Given the description of an element on the screen output the (x, y) to click on. 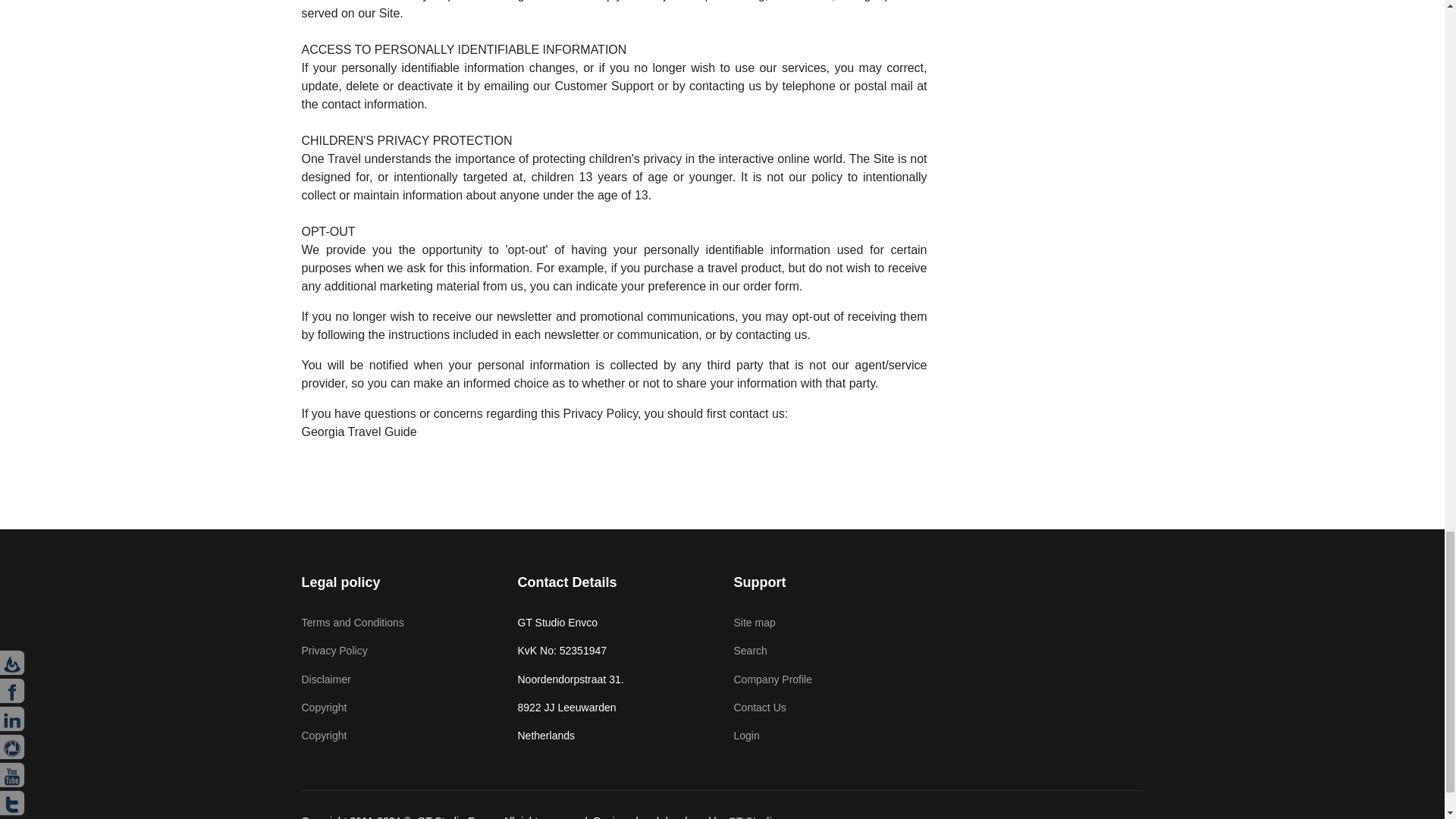
Disclaimer (398, 678)
Privacy Policy (398, 650)
GT-Studio (753, 816)
Terms and Conditions (398, 622)
Copyright (398, 707)
